Given the description of an element on the screen output the (x, y) to click on. 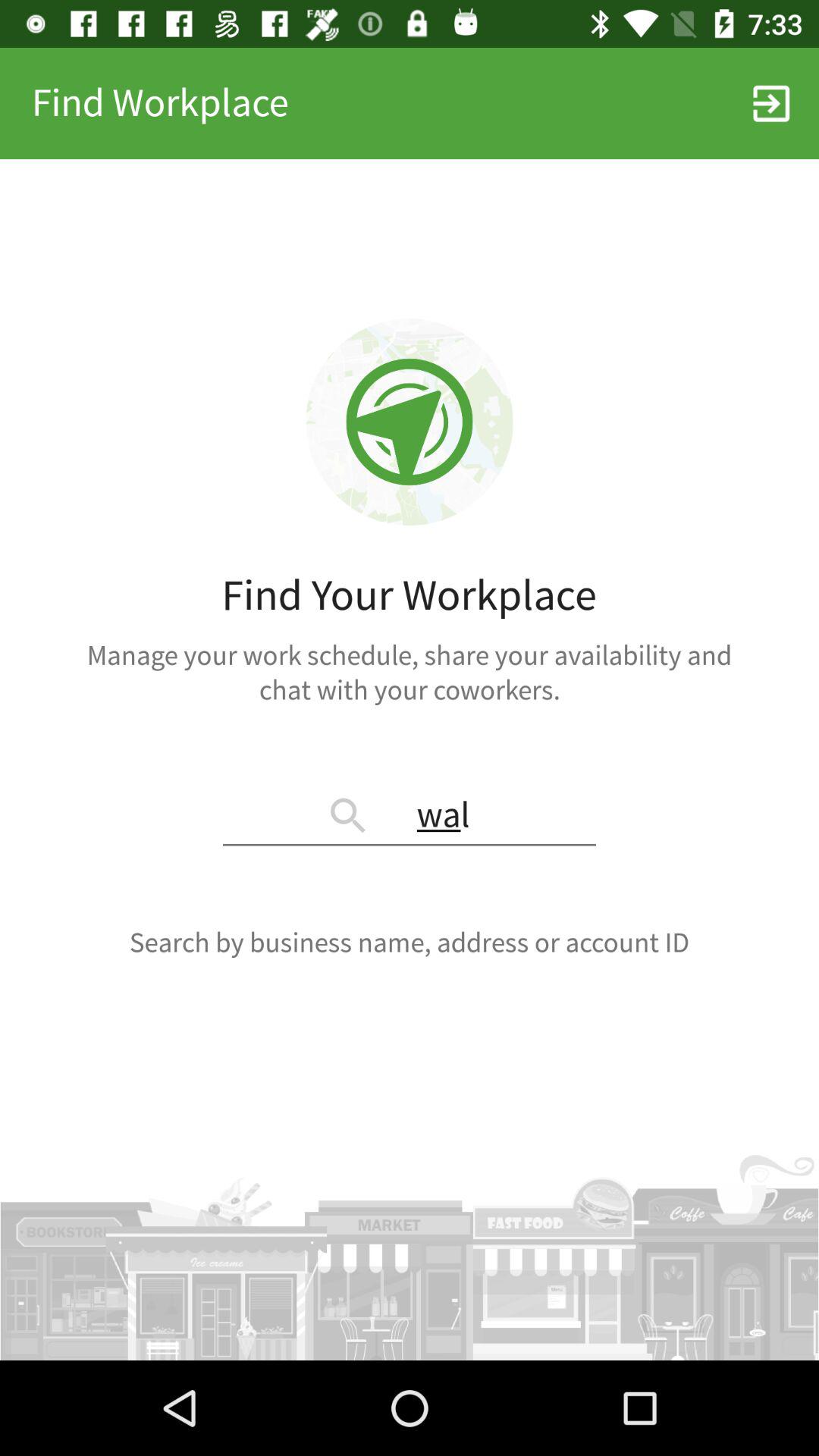
click the item at the top right corner (771, 103)
